Given the description of an element on the screen output the (x, y) to click on. 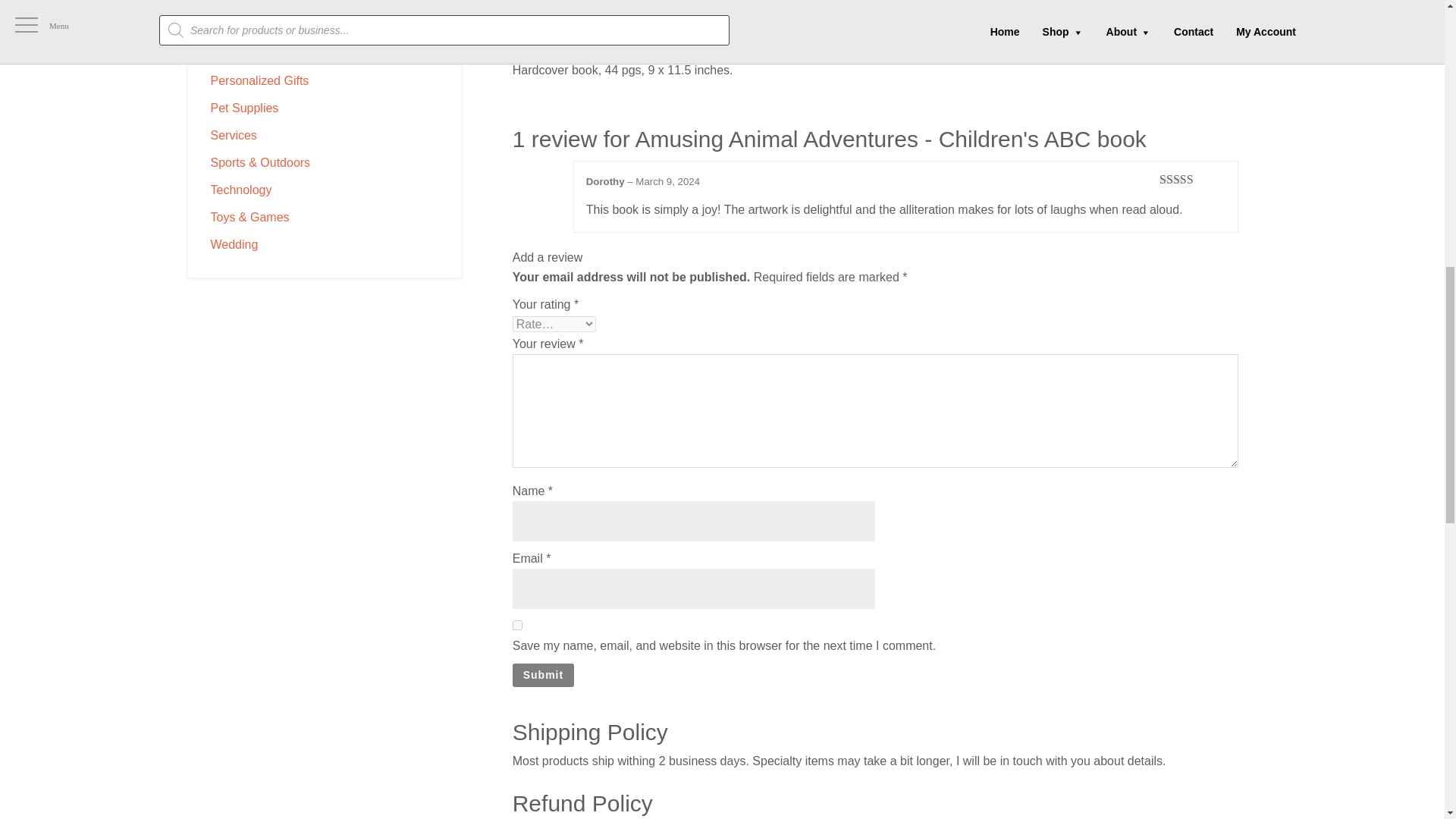
Technology (241, 189)
Music (227, 25)
Personalized Gifts (259, 80)
Pet Supplies (245, 107)
Wedding (235, 244)
Household Supplies (264, 2)
yes (517, 624)
Submit (542, 675)
Services (234, 134)
